Given the description of an element on the screen output the (x, y) to click on. 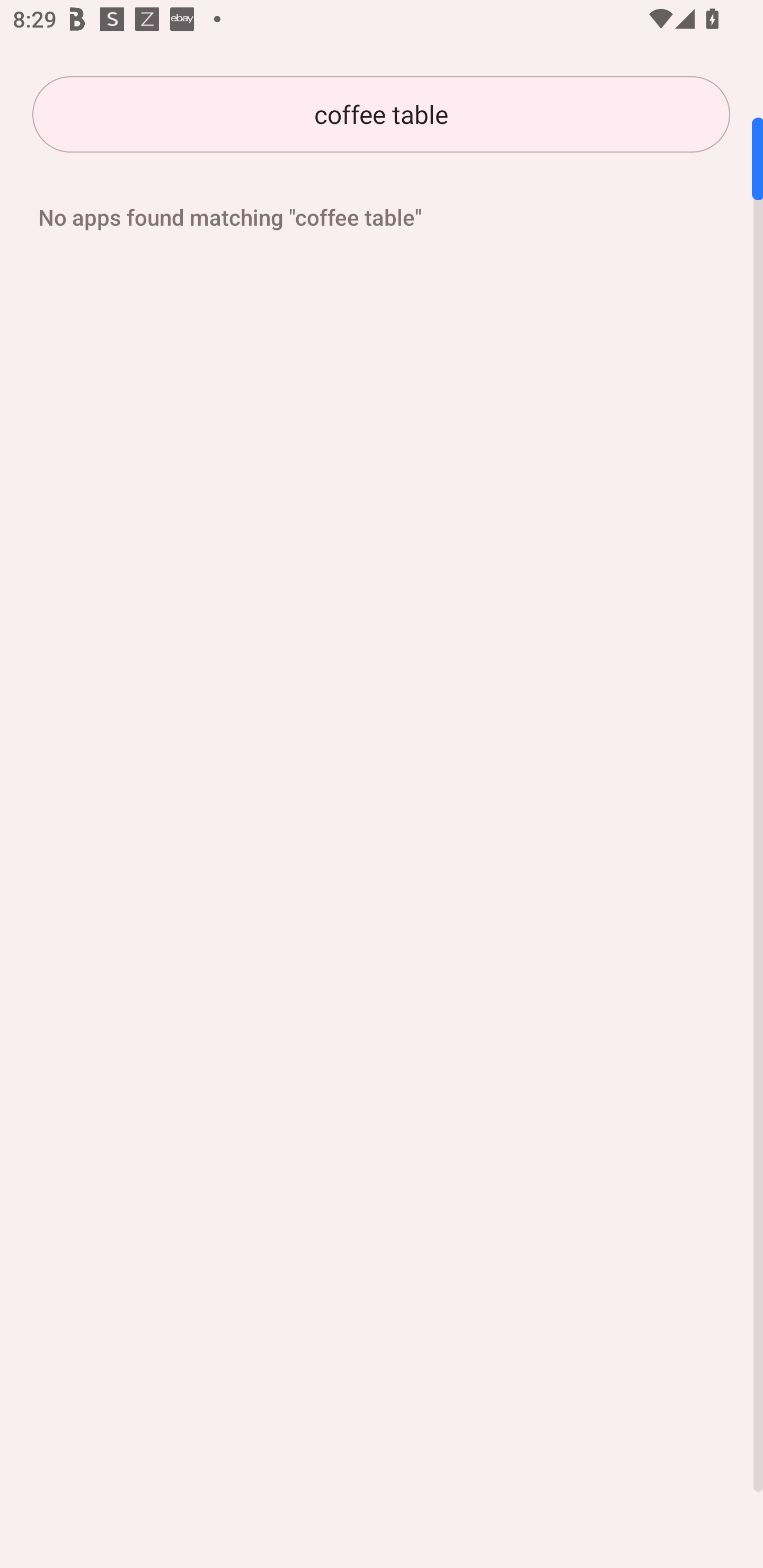
coffee table (381, 114)
